Given the description of an element on the screen output the (x, y) to click on. 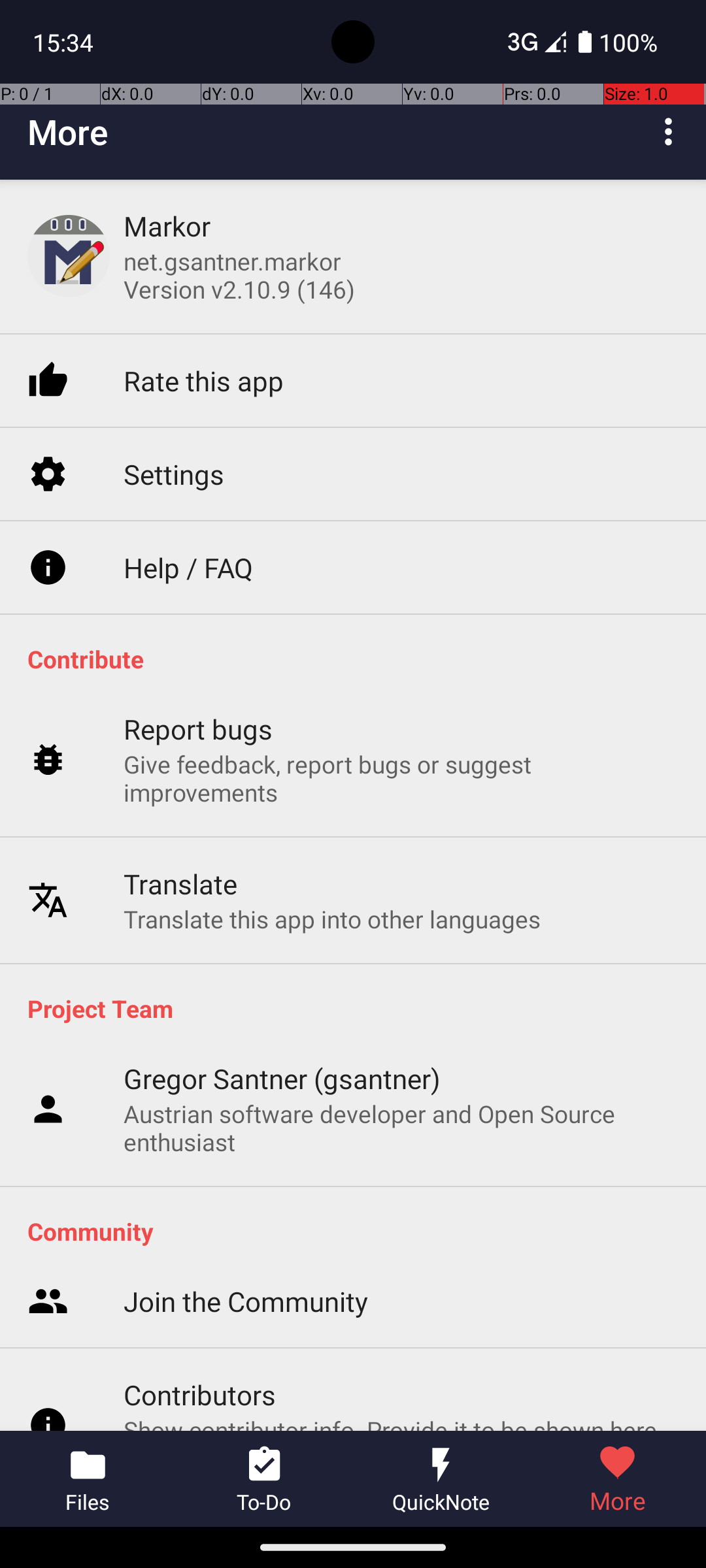
More Element type: android.widget.TextView (67, 131)
To-Do Element type: android.widget.FrameLayout (264, 1478)
QuickNote Element type: android.widget.FrameLayout (441, 1478)
Contribute Element type: android.widget.TextView (359, 658)
Project Team Element type: android.widget.TextView (359, 1008)
Community Element type: android.widget.TextView (359, 1230)
Markor Element type: android.widget.TextView (166, 225)
net.gsantner.markor
Version v2.10.9 (146) Element type: android.widget.TextView (239, 274)
Rate this app Element type: android.widget.TextView (203, 380)
Help / FAQ Element type: android.widget.TextView (188, 567)
Report bugs Element type: android.widget.TextView (198, 728)
Give feedback, report bugs or suggest improvements Element type: android.widget.TextView (400, 777)
Translate Element type: android.widget.TextView (180, 883)
Translate this app into other languages Element type: android.widget.TextView (331, 918)
Gregor Santner (gsantner) Element type: android.widget.TextView (281, 1077)
Austrian software developer and Open Source enthusiast Element type: android.widget.TextView (400, 1127)
Join the Community Element type: android.widget.TextView (245, 1300)
Contributors Element type: android.widget.TextView (199, 1394)
Show contributor info. Provide it to be shown here on an opt-in basis after contributing Element type: android.widget.TextView (400, 1421)
